Given the description of an element on the screen output the (x, y) to click on. 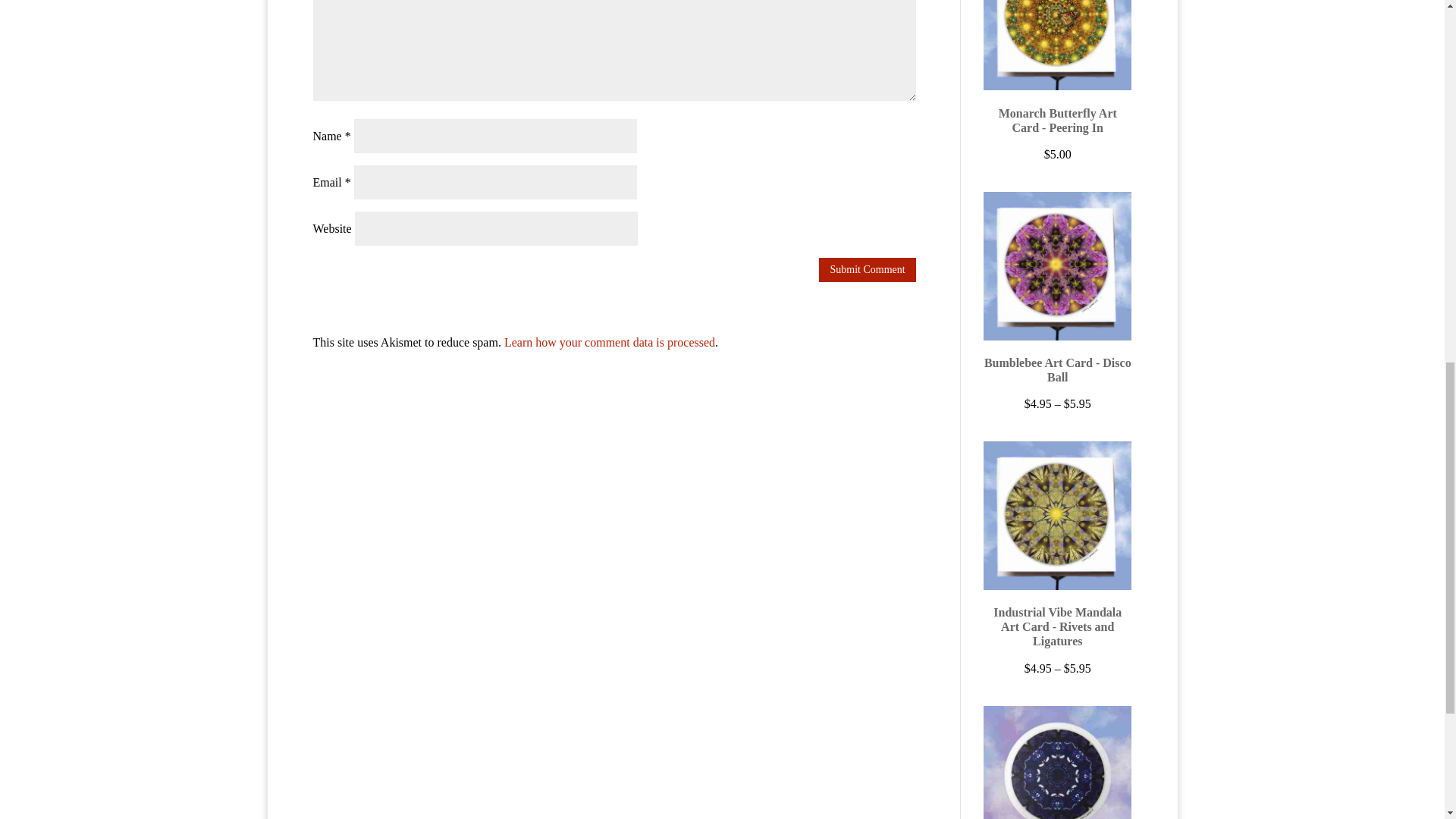
Submit Comment (866, 269)
Monarch Butterfly Art Card - Peering In (1057, 72)
Submit Comment (866, 269)
Blue Jay Sticker 4" - Blue Jay Bliss (1057, 762)
Learn how your comment data is processed (608, 341)
